Given the description of an element on the screen output the (x, y) to click on. 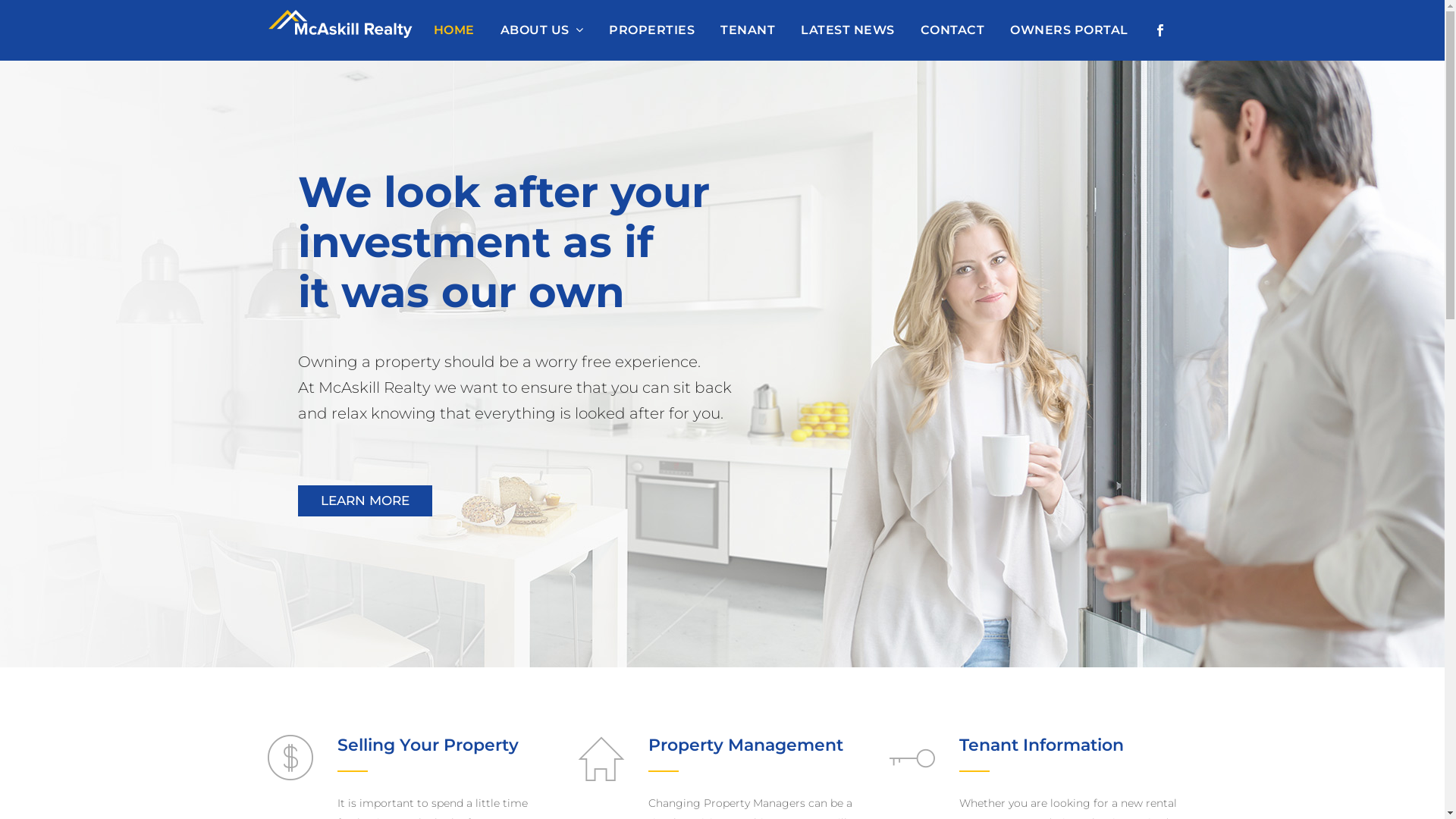
LATEST NEWS Element type: text (847, 30)
PROPERTIES Element type: text (651, 30)
TENANT Element type: text (747, 30)
HOME Element type: text (453, 30)
ABOUT US Element type: text (541, 30)
OWNERS PORTAL Element type: text (1069, 30)
CONTACT Element type: text (951, 30)
